Given the description of an element on the screen output the (x, y) to click on. 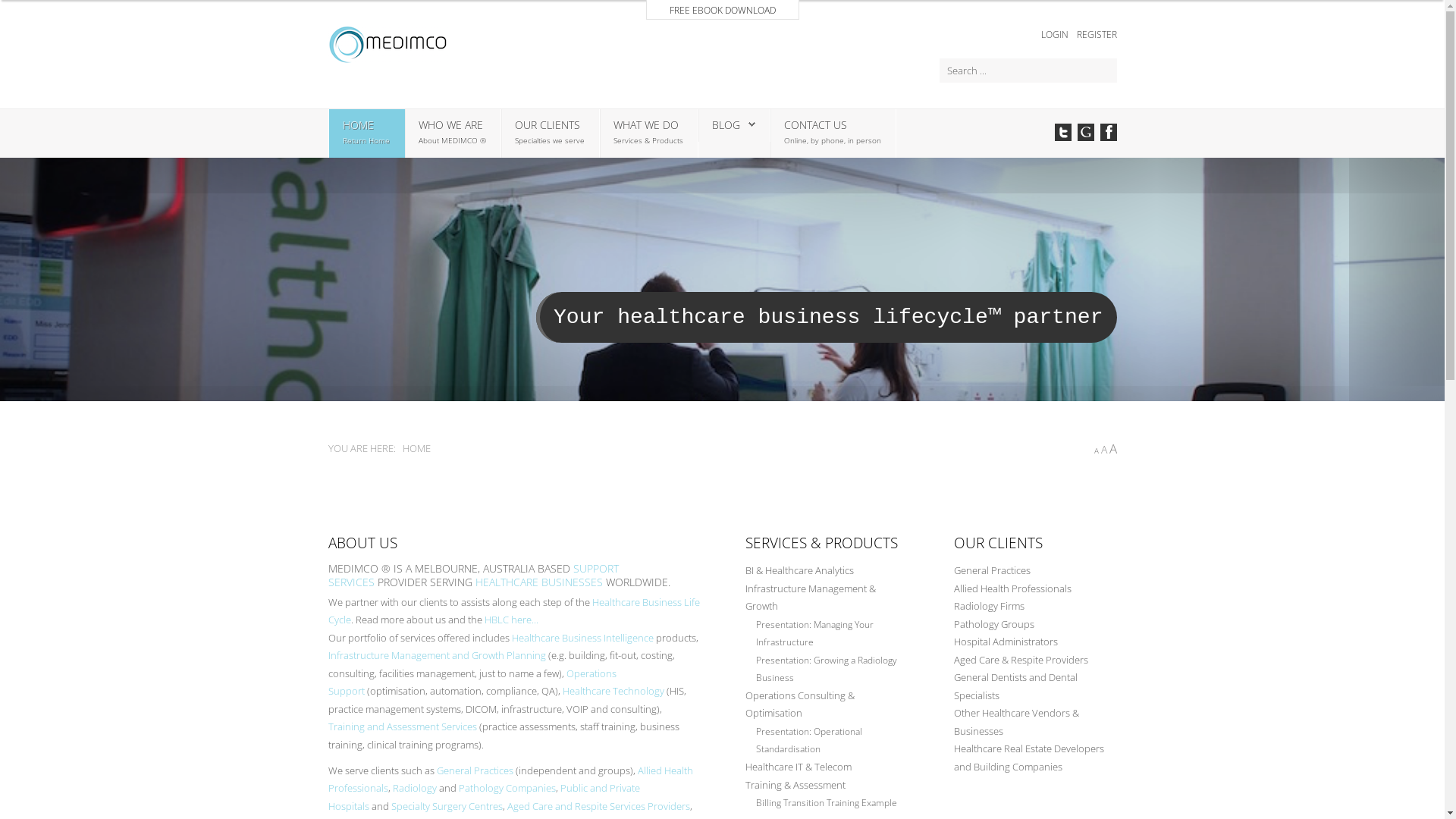
General Dentists and Dental Specialists Element type: text (1035, 686)
Healthcare Real Estate Developers and Building Companies Element type: text (1035, 757)
Aged Care & Respite Providers Element type: text (1035, 660)
Pathology Companies Element type: text (506, 787)
WHAT WE DO Element type: text (644, 124)
Pathology Groups Element type: text (1035, 624)
A Element type: text (1112, 448)
Healthcare Business Life Cycle Element type: text (513, 611)
Radiology Element type: text (414, 787)
General Practices Element type: text (474, 769)
Aged Care and Respite Services Providers Element type: text (597, 805)
Infrastructure Management & Growth Element type: text (825, 597)
Operations Support Element type: text (471, 682)
Radiology Firms Element type: text (1035, 606)
Services & Products Element type: text (647, 140)
CONTACT US Element type: text (815, 124)
Allied Health Professionals Element type: text (1035, 589)
LOGIN Element type: text (1055, 34)
Other Healthcare Vendors & Businesses Element type: text (1035, 722)
General Practices Element type: text (1035, 570)
Healthcare Business Intelligence Element type: text (581, 637)
Healthcare IT & Telecom Element type: text (825, 767)
A Element type: text (1095, 450)
BLOG Element type: text (725, 124)
BI & Healthcare Analytics Element type: text (825, 570)
Presentation: Growing a Radiology Business Element type: text (831, 669)
Presentation: Operational Standardisation Element type: text (831, 740)
Training and Assessment Services Element type: text (401, 726)
Infrastructure Management and Growth Planning Element type: text (436, 655)
Specialties we serve Element type: text (548, 140)
Allied Health Professionals Element type: text (509, 778)
HBLC here... Element type: text (510, 619)
SUPPORT SERVICES Element type: text (472, 575)
WHO WE ARE Element type: text (450, 124)
Operations Consulting & Optimisation Element type: text (825, 704)
Presentation: Managing Your Infrastructure Element type: text (831, 633)
Billing Transition Training Example Element type: text (831, 802)
Specialty Surgery Centres Element type: text (446, 805)
OUR CLIENTS Element type: text (546, 124)
Healthcare Technology Element type: text (613, 690)
Hospital Administrators Element type: text (1035, 642)
Return Home Element type: text (365, 140)
HOME Element type: text (357, 124)
Public and Private Hospitals Element type: text (483, 796)
BLOG Element type: text (732, 124)
Training & Assessment Element type: text (825, 785)
HEALTHCARE BUSINESSES Element type: text (538, 581)
A Element type: text (1104, 449)
Online, by phone, in person Element type: text (832, 140)
REGISTER Element type: text (1096, 34)
